Given the description of an element on the screen output the (x, y) to click on. 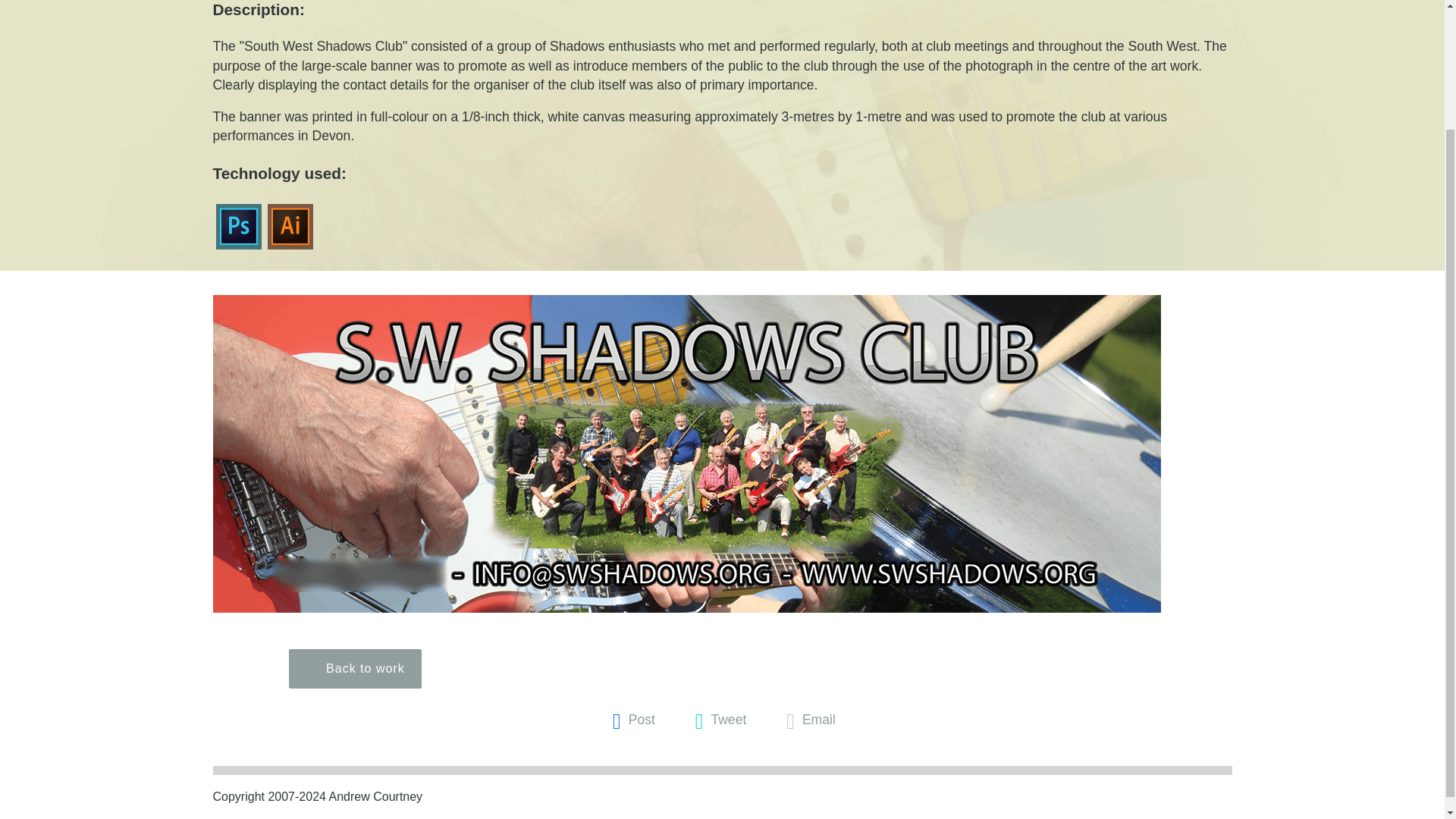
Email to a friend (808, 721)
Email (808, 721)
Share on Twitter (718, 721)
Illustrator (289, 226)
Back to work (355, 668)
Post on Facebook (631, 721)
Post (631, 721)
Back to work (355, 668)
Photoshop (237, 226)
Tweet (718, 721)
